Given the description of an element on the screen output the (x, y) to click on. 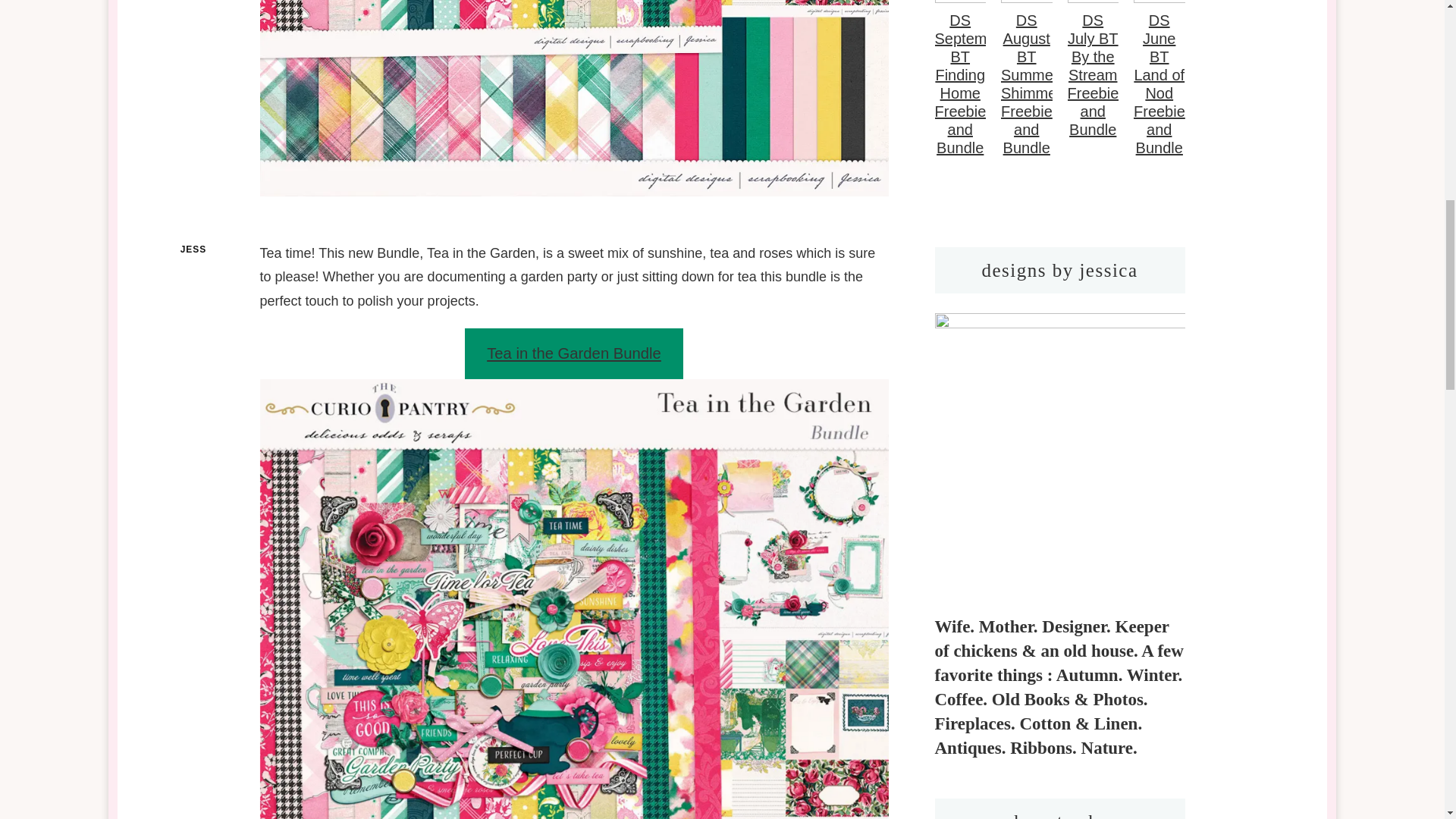
JESS (193, 249)
Designs by Jessica (1059, 444)
Tea in the Garden Bundle (573, 353)
